Given the description of an element on the screen output the (x, y) to click on. 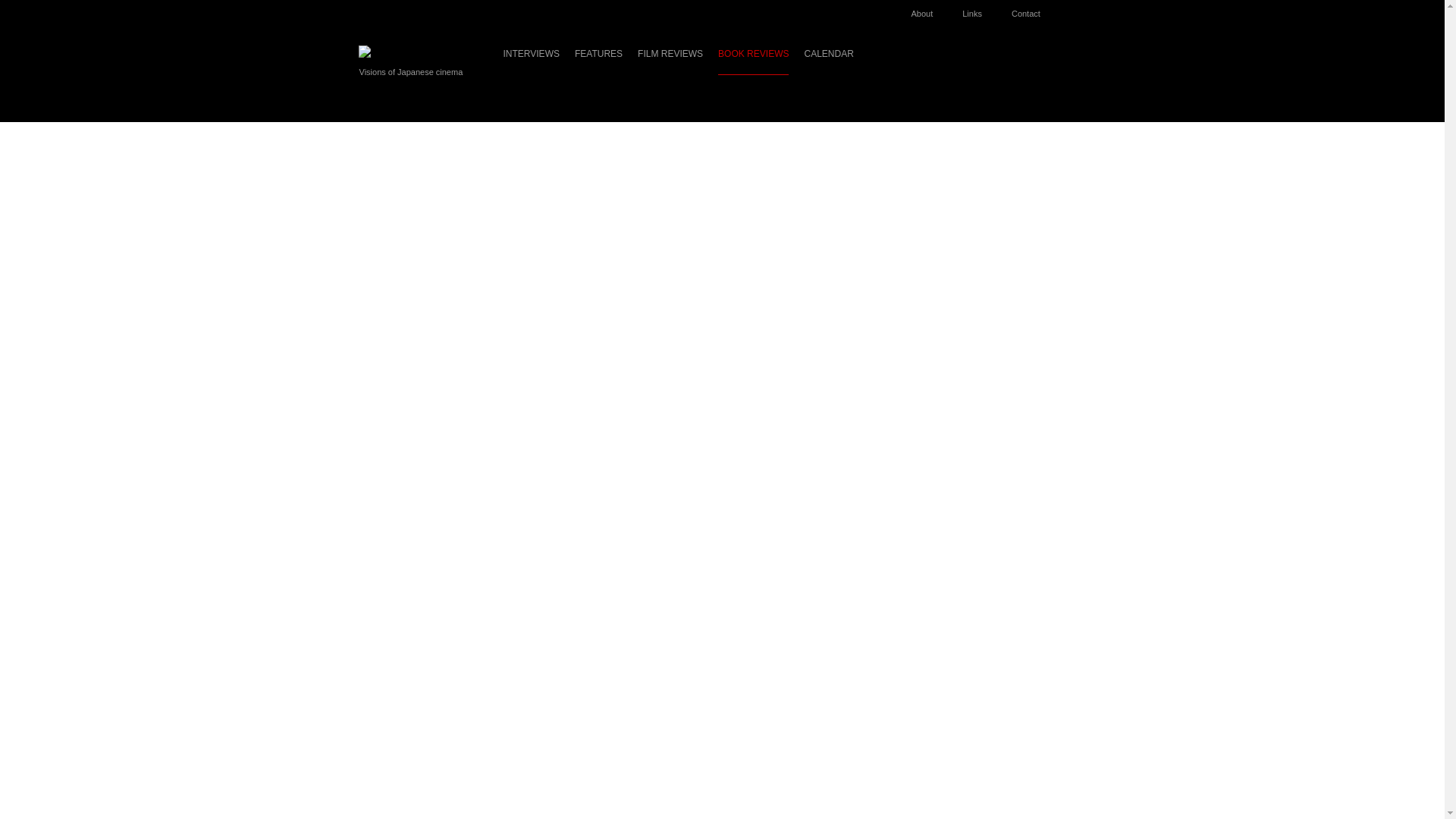
FILM REVIEWS (670, 61)
About (929, 9)
Film reviews (670, 61)
CALENDAR (828, 61)
FEATURES (599, 61)
Links (979, 9)
Interviews (531, 61)
Midnight Eye (400, 50)
Contact (1033, 9)
Midnight Eye (400, 51)
